Given the description of an element on the screen output the (x, y) to click on. 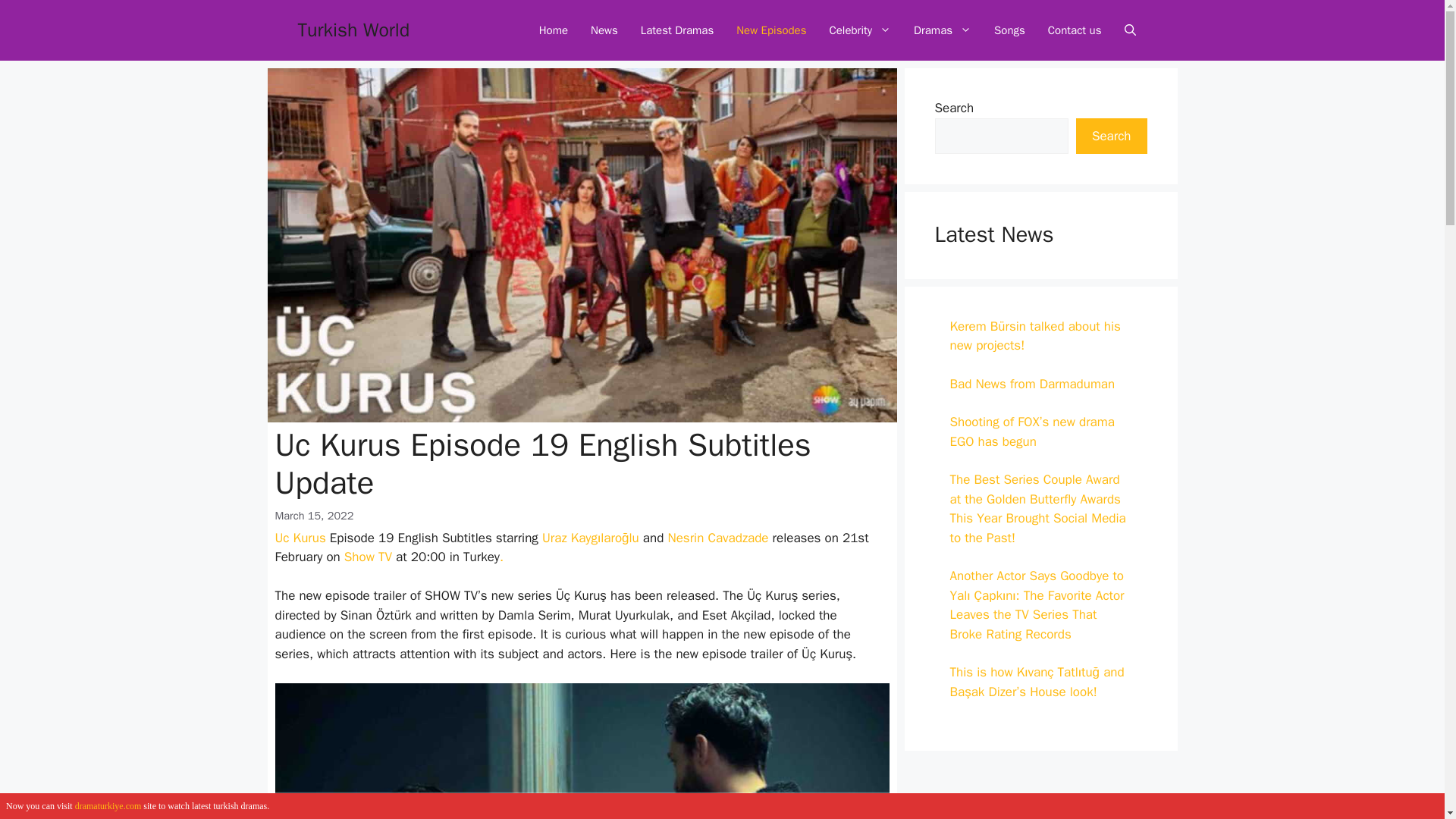
Latest Dramas (676, 30)
Turkish World (353, 29)
Uc Kurus Episode 19 English Subtitles Update 2 (581, 751)
Songs (1009, 30)
Dramas (942, 30)
New Episodes (770, 30)
Home (553, 30)
News (603, 30)
Celebrity (859, 30)
Contact us (1074, 30)
